Given the description of an element on the screen output the (x, y) to click on. 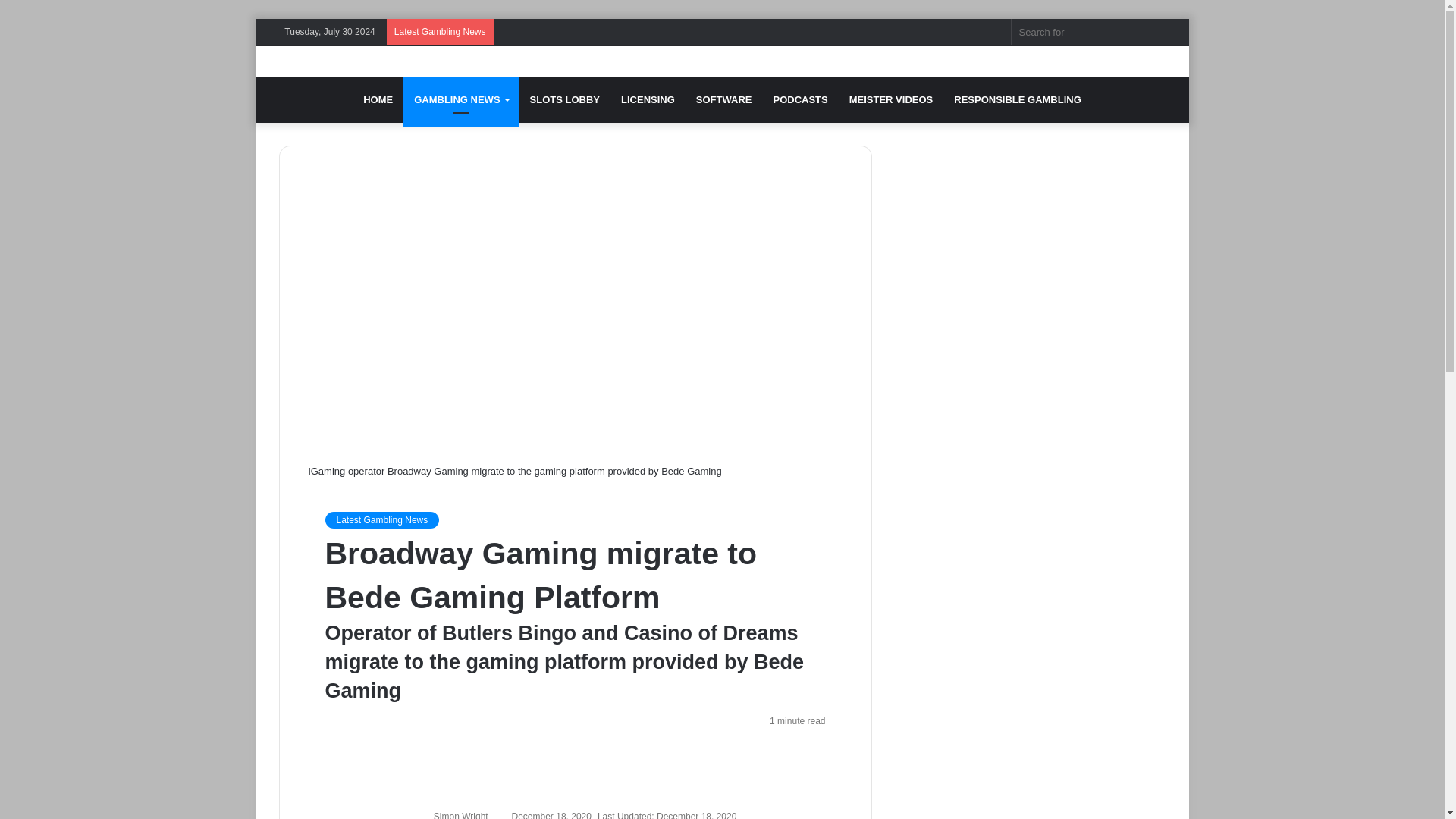
MEISTER VIDEOS (890, 99)
Simon Wright (460, 815)
GAMBLING NEWS (460, 99)
Search for (1088, 31)
HOME (377, 99)
RESPONSIBLE GAMBLING (1017, 99)
Latest Gambling News (381, 519)
Simon Wright (460, 815)
SLOTS LOBBY (564, 99)
SOFTWARE (723, 99)
PODCASTS (799, 99)
Search for (1149, 31)
LICENSING (647, 99)
